Given the description of an element on the screen output the (x, y) to click on. 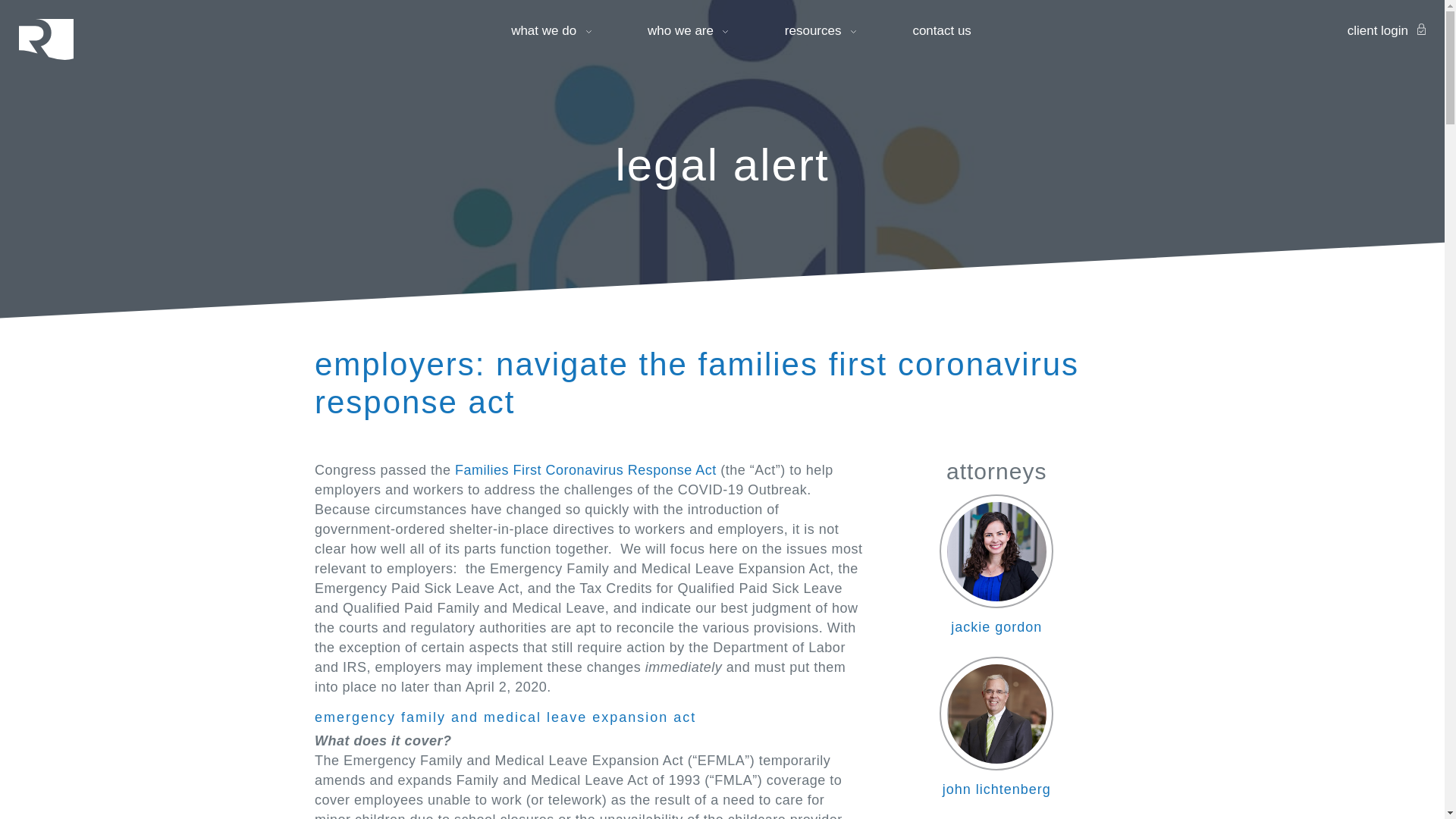
Jackie Gordon (996, 551)
john lichtenberg (996, 726)
jackie gordon (996, 563)
who we are (688, 30)
client login (1386, 30)
View who we are menu (688, 30)
Families First Coronavirus Response Act (585, 469)
View resources menu (820, 30)
contact us (941, 30)
View what we do menu (551, 30)
